Given the description of an element on the screen output the (x, y) to click on. 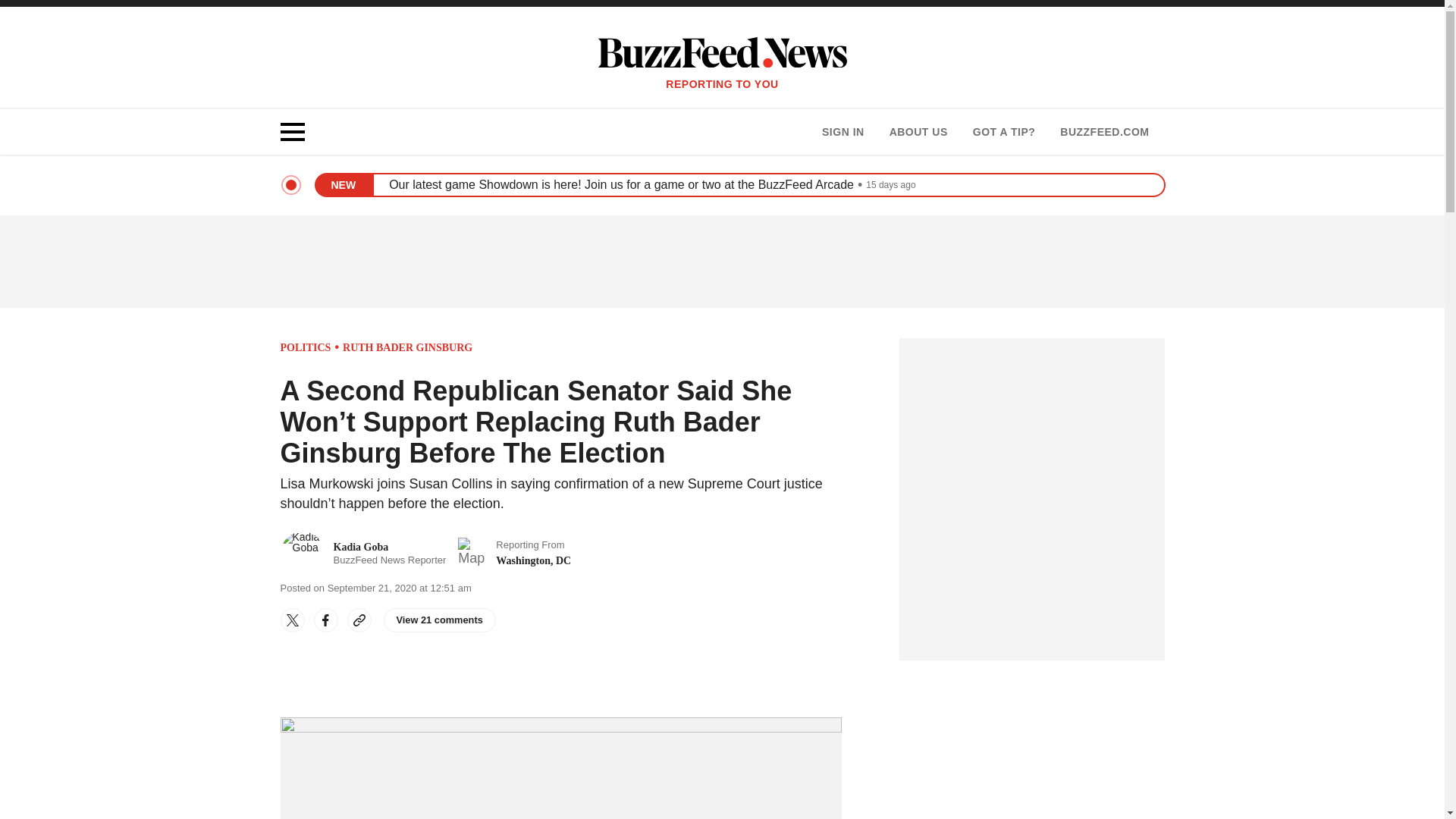
GOT A TIP? (1003, 131)
POLITICS (306, 347)
ABOUT US (917, 131)
RUTH BADER GINSBURG (406, 347)
View 21 comments (440, 620)
BUZZFEED.COM (1103, 131)
SIGN IN (842, 131)
